Given the description of an element on the screen output the (x, y) to click on. 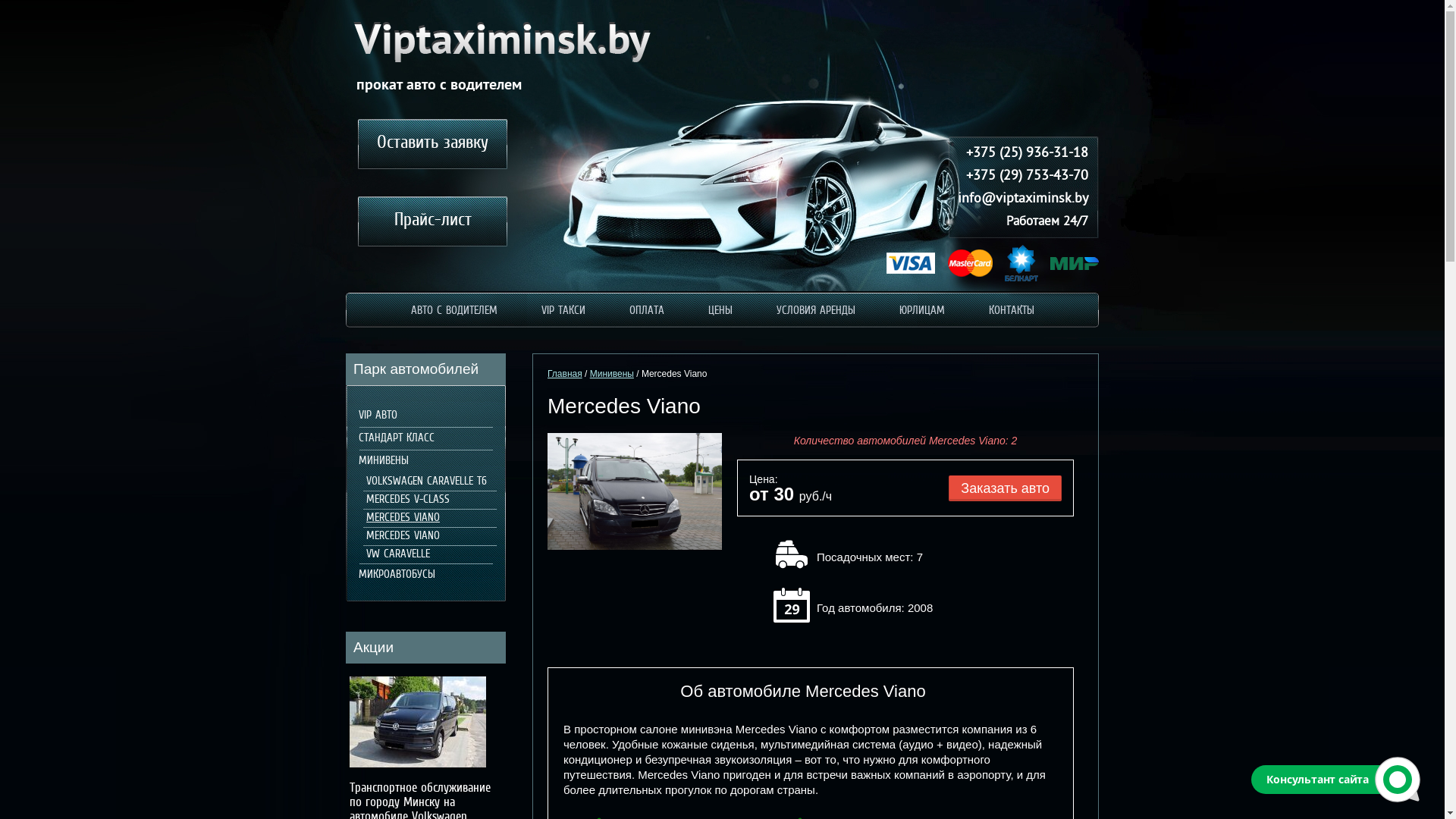
VOLKSWAGEN CARAVELLE T6 Element type: text (423, 481)
MERCEDES V-CLASS Element type: text (405, 499)
+375 (29) 753-43-70 Element type: text (1018, 176)
info@viptaximinsk.by Element type: text (1018, 199)
MERCEDES VIANO Element type: text (400, 536)
+375 (25) 936-31-18 Element type: text (1018, 153)
VW CARAVELLE Element type: text (395, 554)
